Given the description of an element on the screen output the (x, y) to click on. 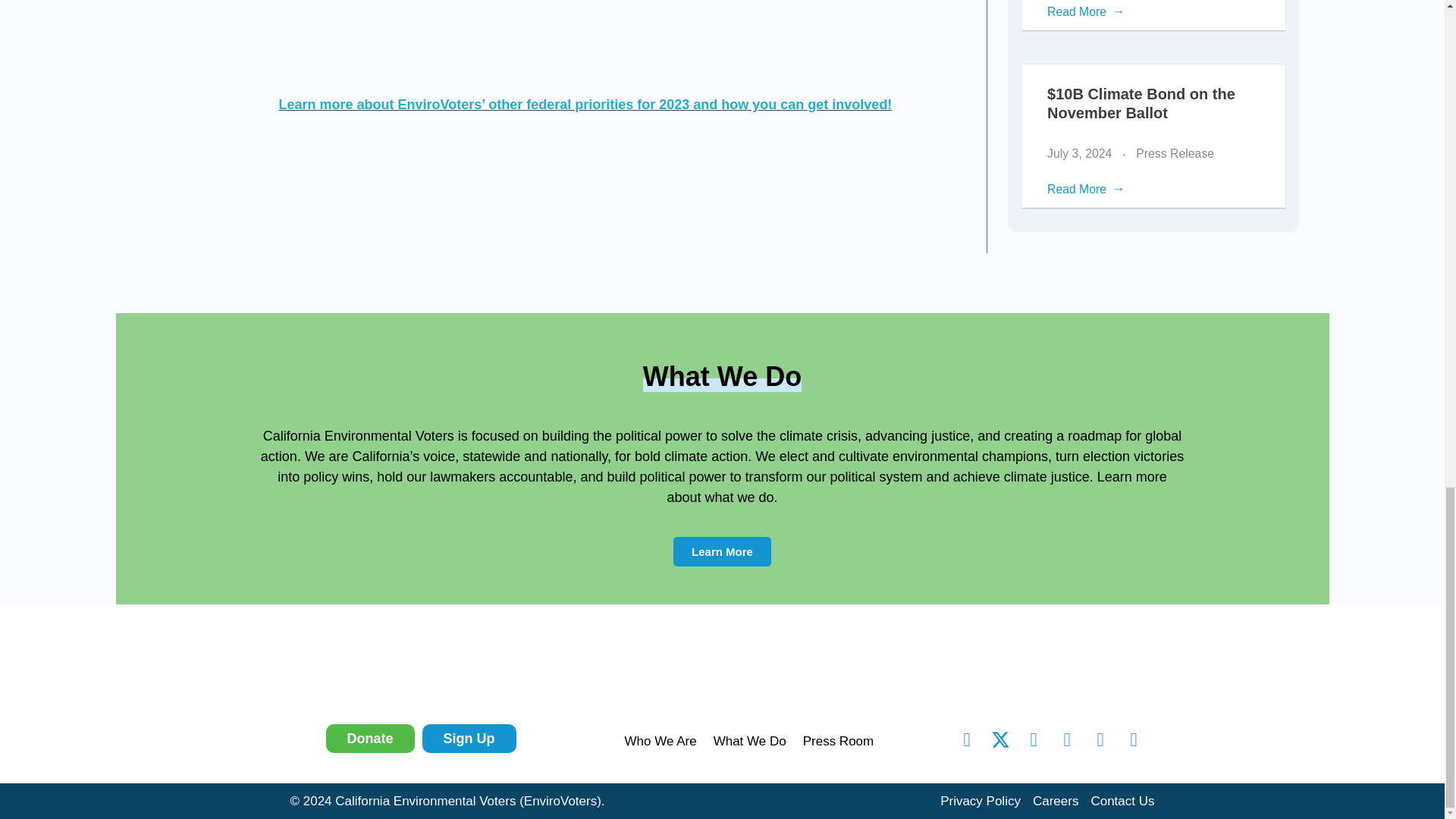
2024-07-03T19:13:11-07:00 (1079, 153)
View all posts in Press Release (1174, 153)
YouTube video player (584, 28)
